Given the description of an element on the screen output the (x, y) to click on. 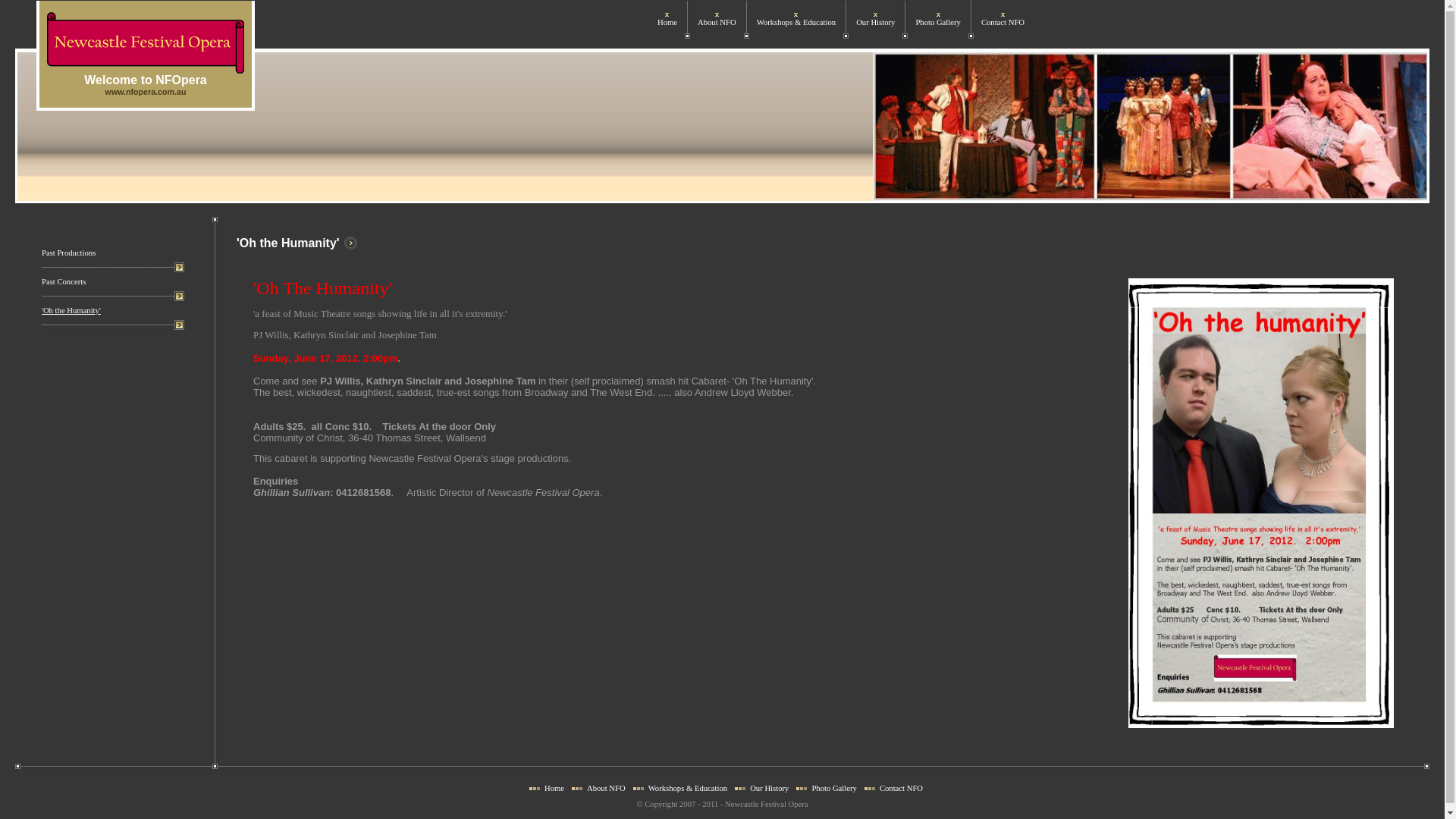
Contact NFO Element type: text (1002, 22)
Workshops & Education Element type: text (688, 788)
Home Element type: text (667, 22)
Photo Gallery Element type: text (833, 788)
Past Concerts Element type: text (63, 281)
About NFO Element type: text (716, 22)
Past Productions Element type: text (68, 252)
About NFO Element type: text (605, 788)
Our History Element type: text (875, 22)
Home Element type: text (554, 788)
Photo Gallery Element type: text (937, 22)
Our History Element type: text (768, 788)
Workshops & Education Element type: text (796, 22)
Contact NFO Element type: text (900, 788)
